Given the description of an element on the screen output the (x, y) to click on. 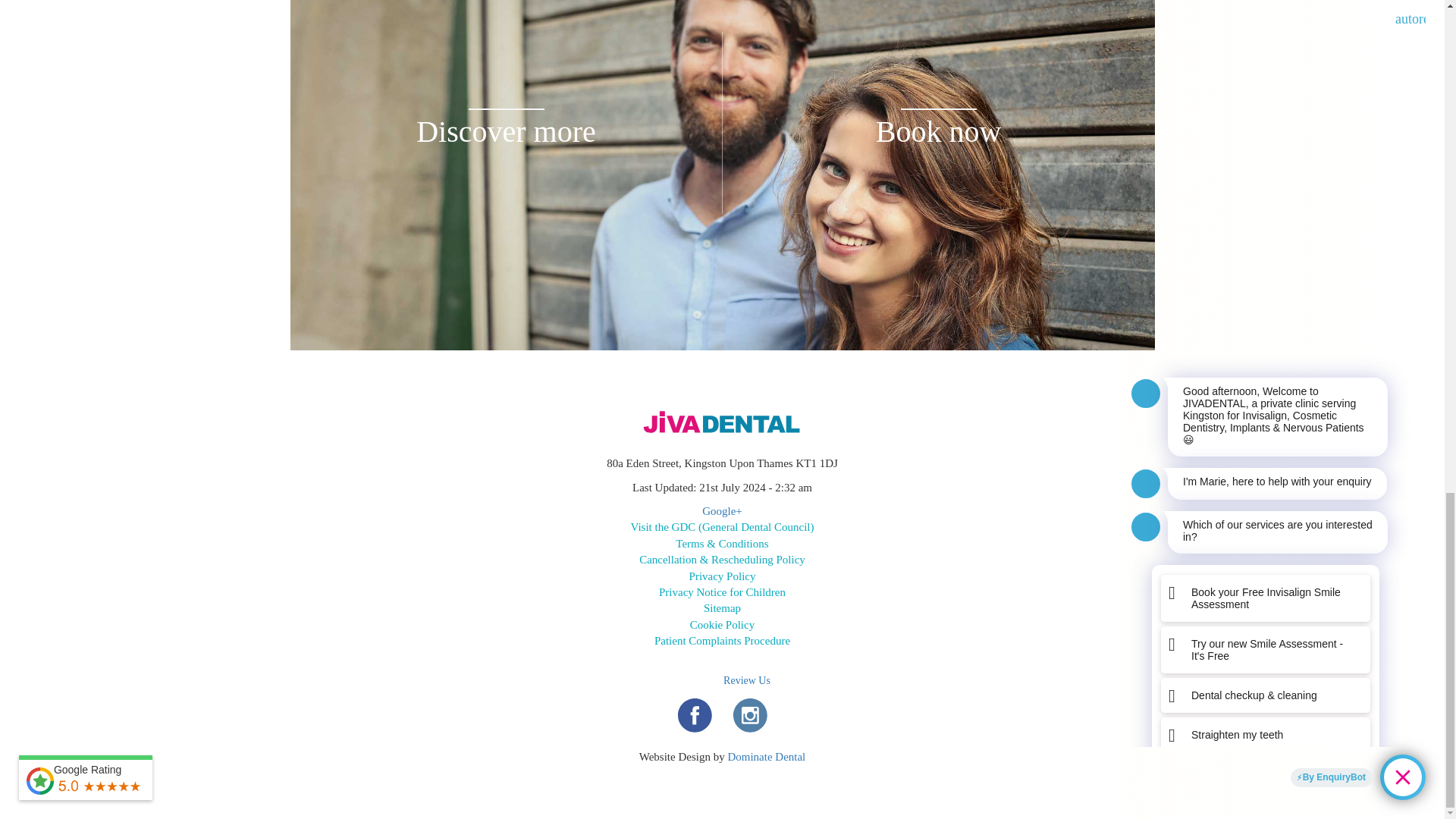
Instagram (749, 714)
Facebook (694, 714)
